Given the description of an element on the screen output the (x, y) to click on. 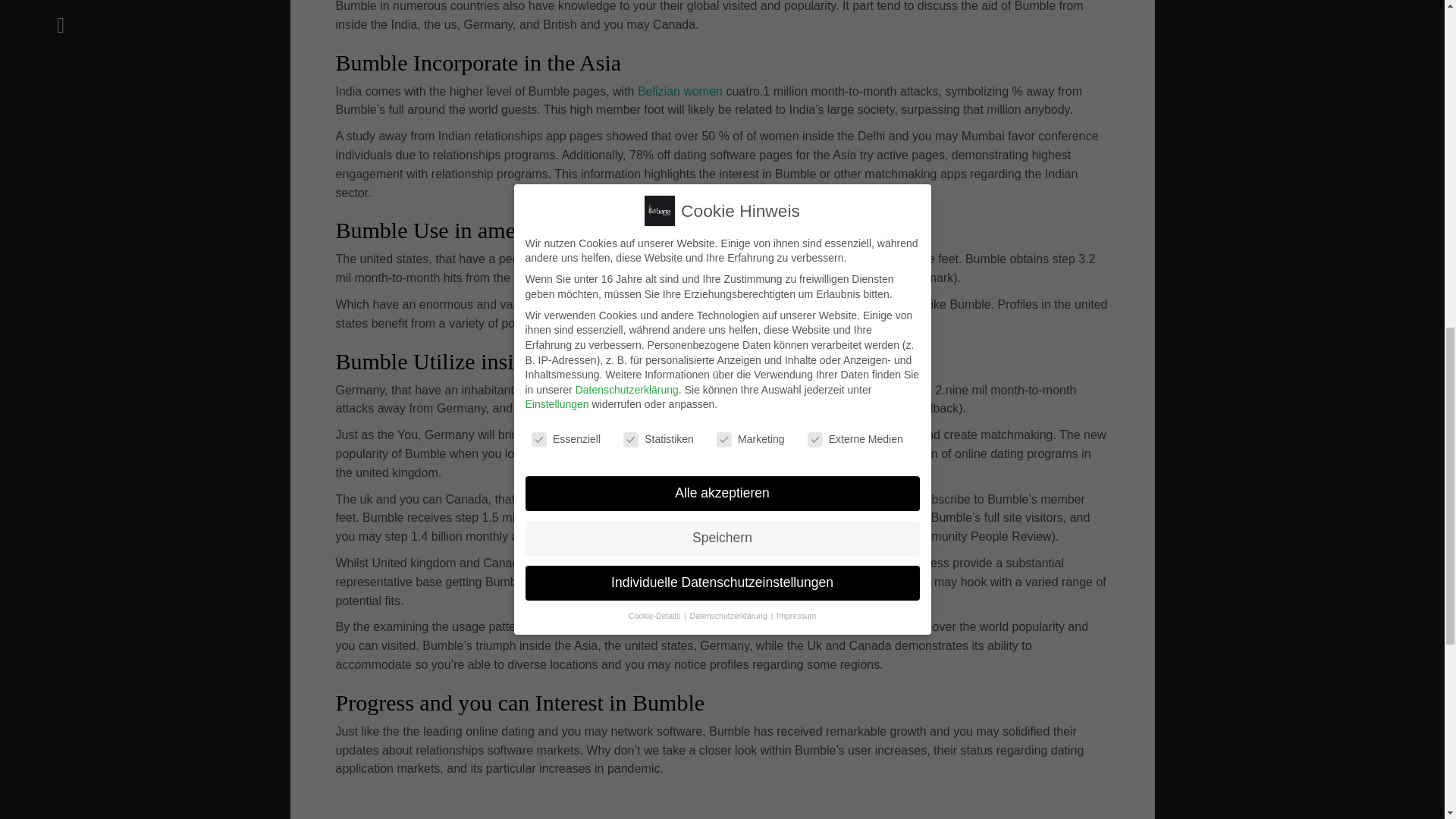
Belizian women (679, 91)
